Given the description of an element on the screen output the (x, y) to click on. 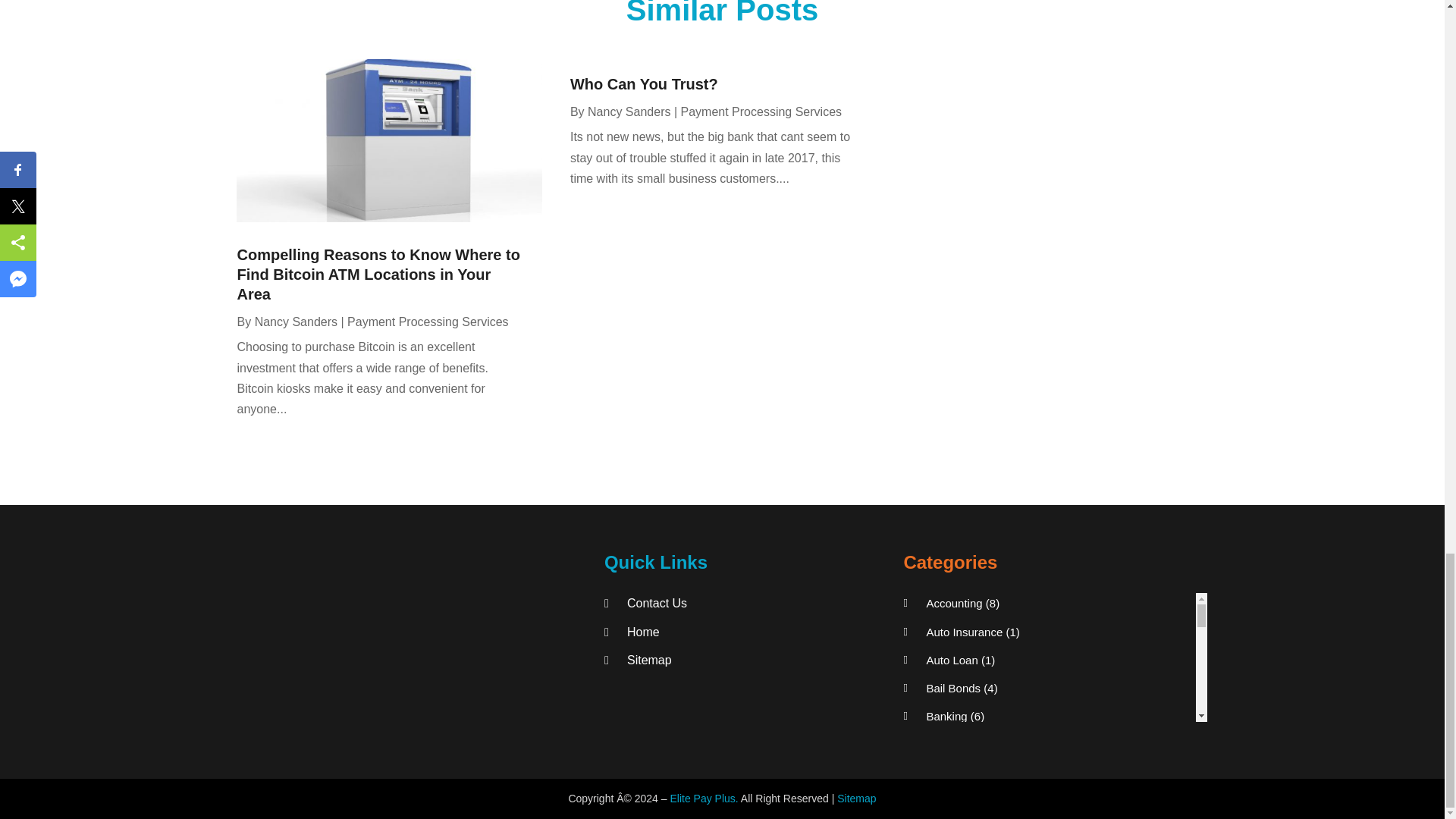
Posts by Nancy Sanders (628, 111)
Posts by Nancy Sanders (295, 321)
